Given the description of an element on the screen output the (x, y) to click on. 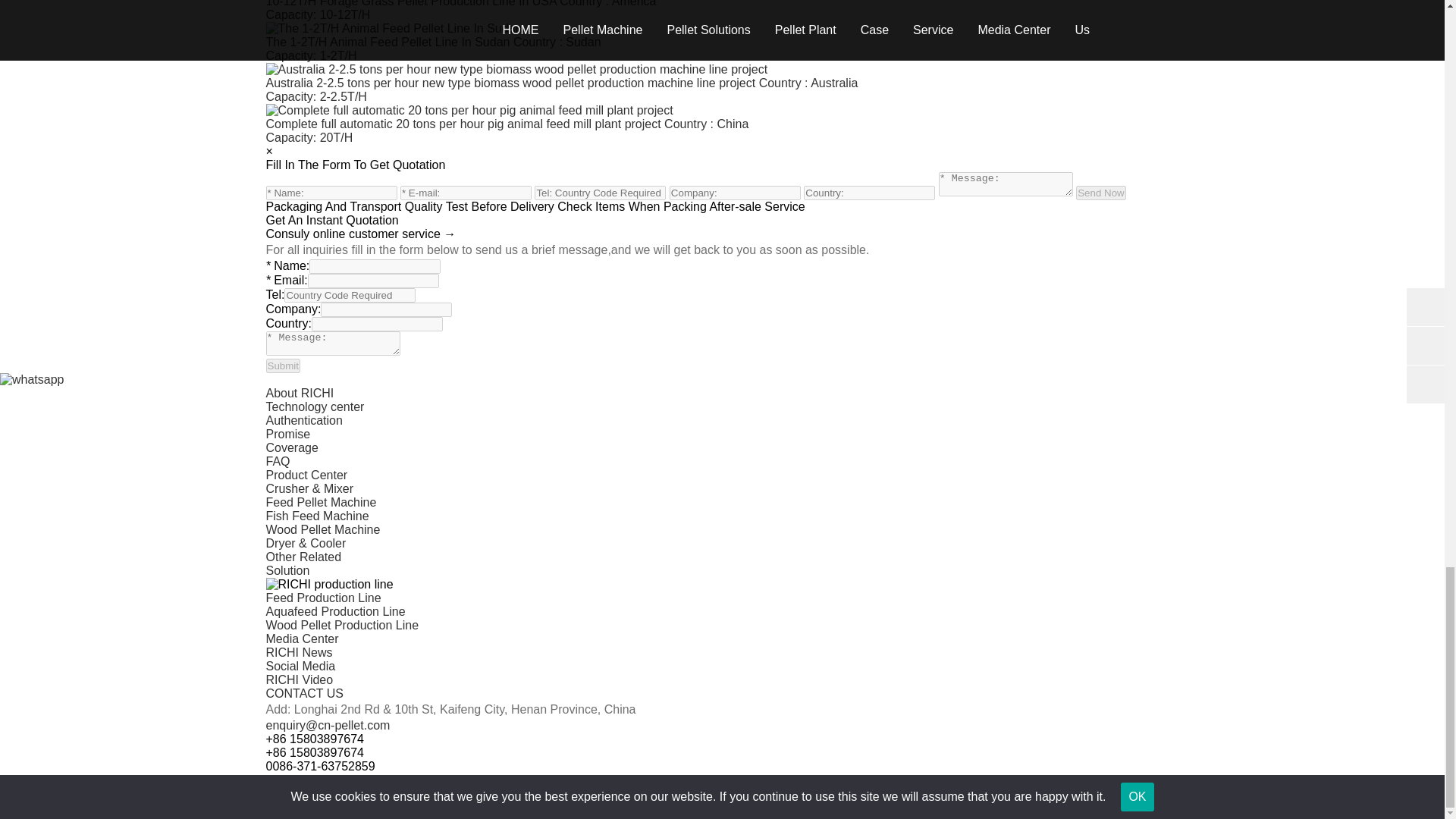
Please fill in the correct phone format (348, 295)
Please fill in the correct phone format (599, 192)
Send Now (1100, 192)
Submit (281, 365)
